Given the description of an element on the screen output the (x, y) to click on. 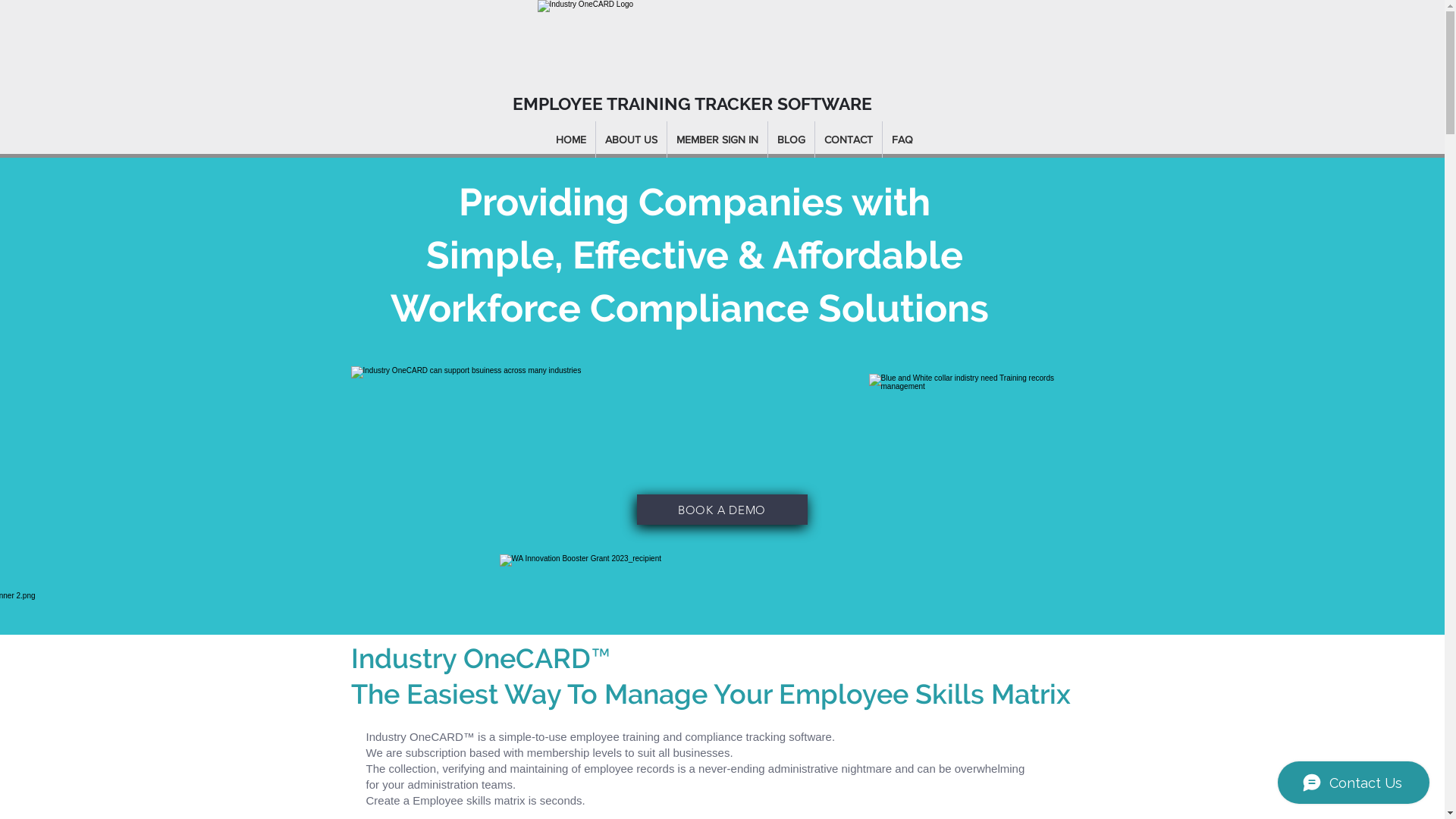
BOOK A DEMO Element type: text (722, 509)
BLOG Element type: text (791, 139)
CONTACT Element type: text (848, 139)
MEMBER SIGN IN Element type: text (717, 139)
Powerful Employee Skills Management Platform Element type: hover (674, 41)
ABOUT US Element type: text (631, 139)
HOME Element type: text (570, 139)
FAQ Element type: text (902, 139)
